Given the description of an element on the screen output the (x, y) to click on. 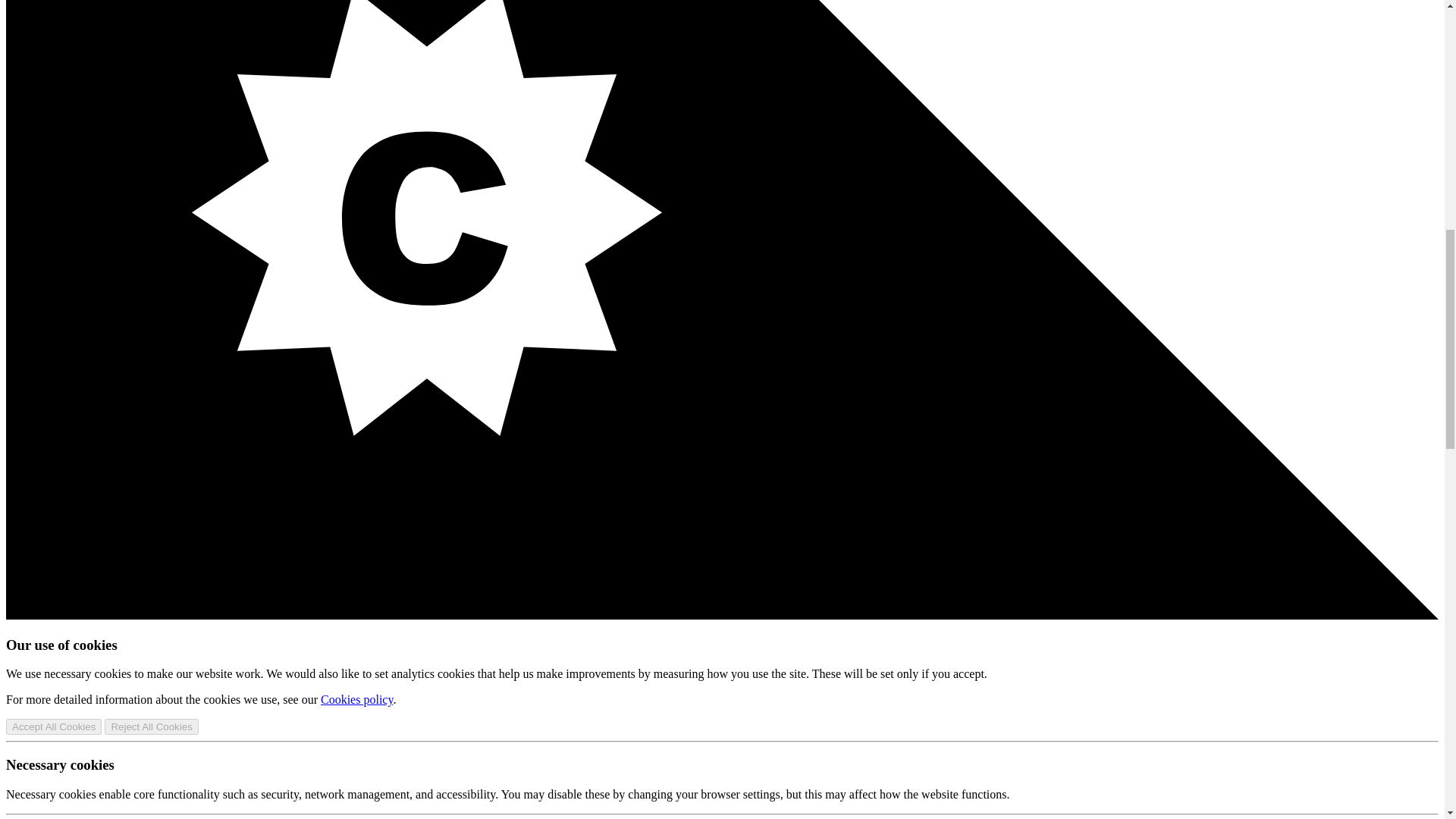
Accept All Cookies (53, 726)
Reject All Cookies (151, 726)
Cookies policy (356, 698)
